Given the description of an element on the screen output the (x, y) to click on. 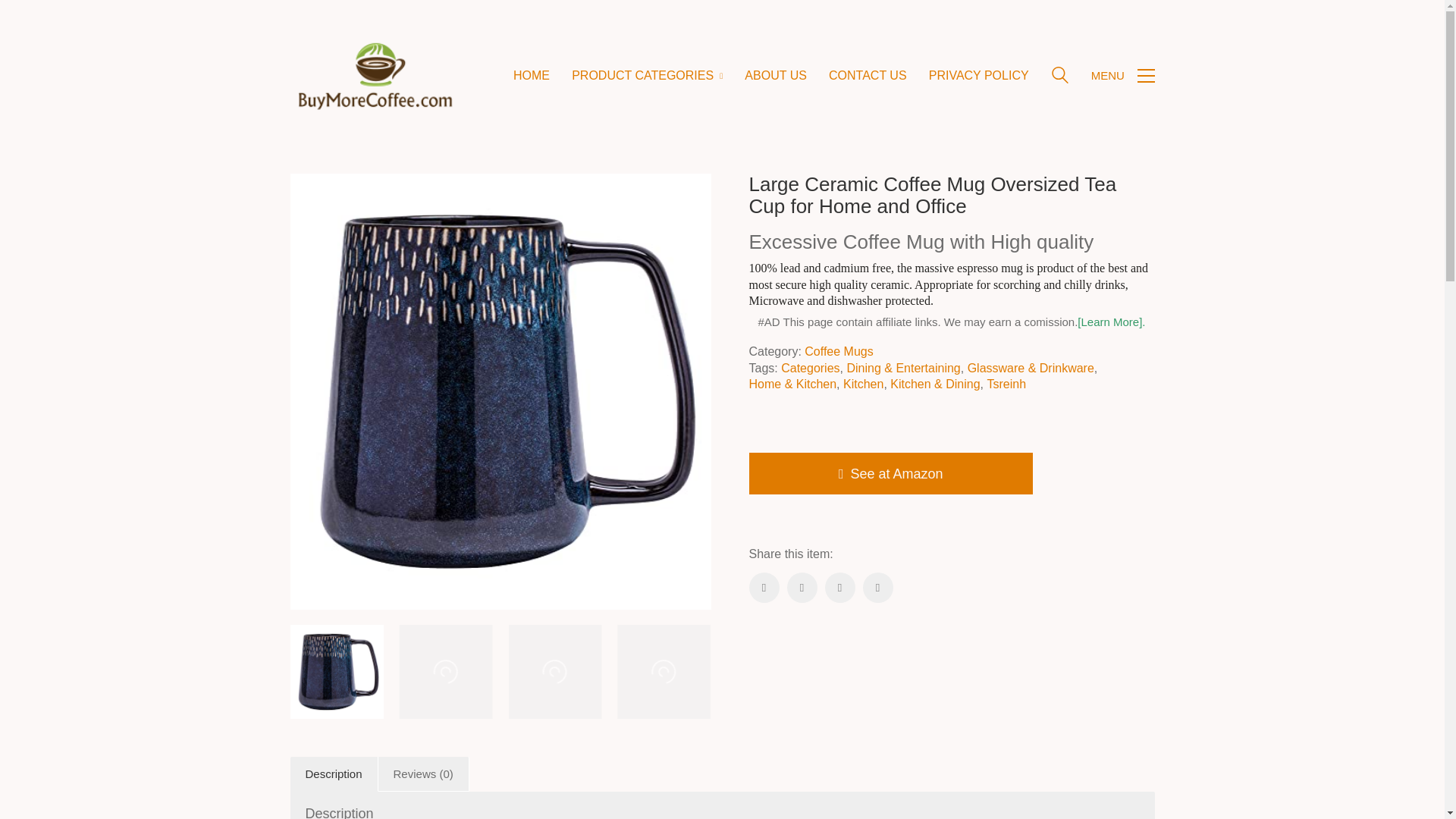
ABOUT US (775, 75)
CONTACT US (867, 75)
PRIVACY POLICY (978, 75)
PRODUCT CATEGORIES (647, 75)
MENU (1122, 75)
HOME (531, 75)
